Given the description of an element on the screen output the (x, y) to click on. 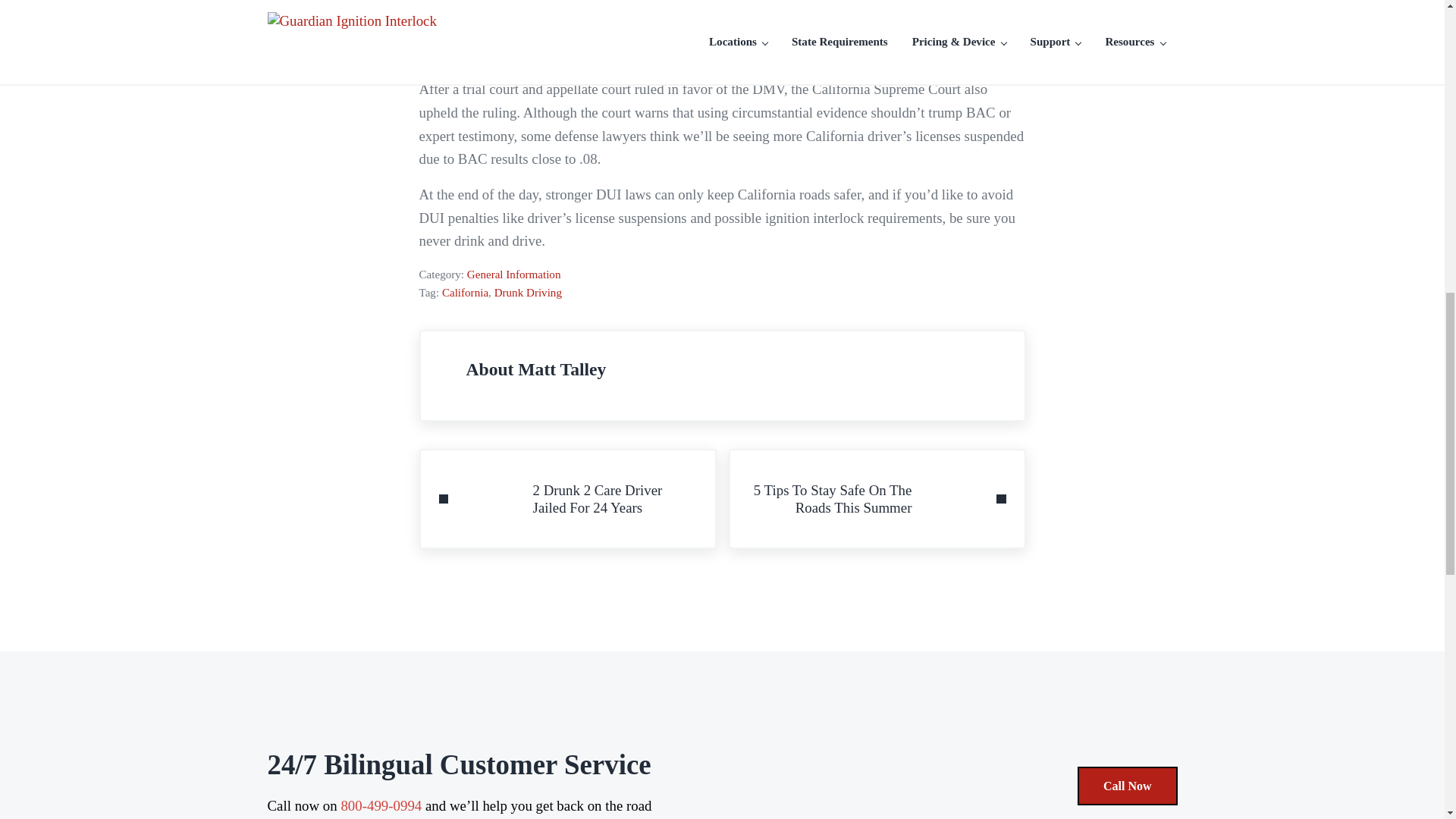
General Information (513, 274)
Drunk Driving (567, 498)
California (528, 292)
